Given the description of an element on the screen output the (x, y) to click on. 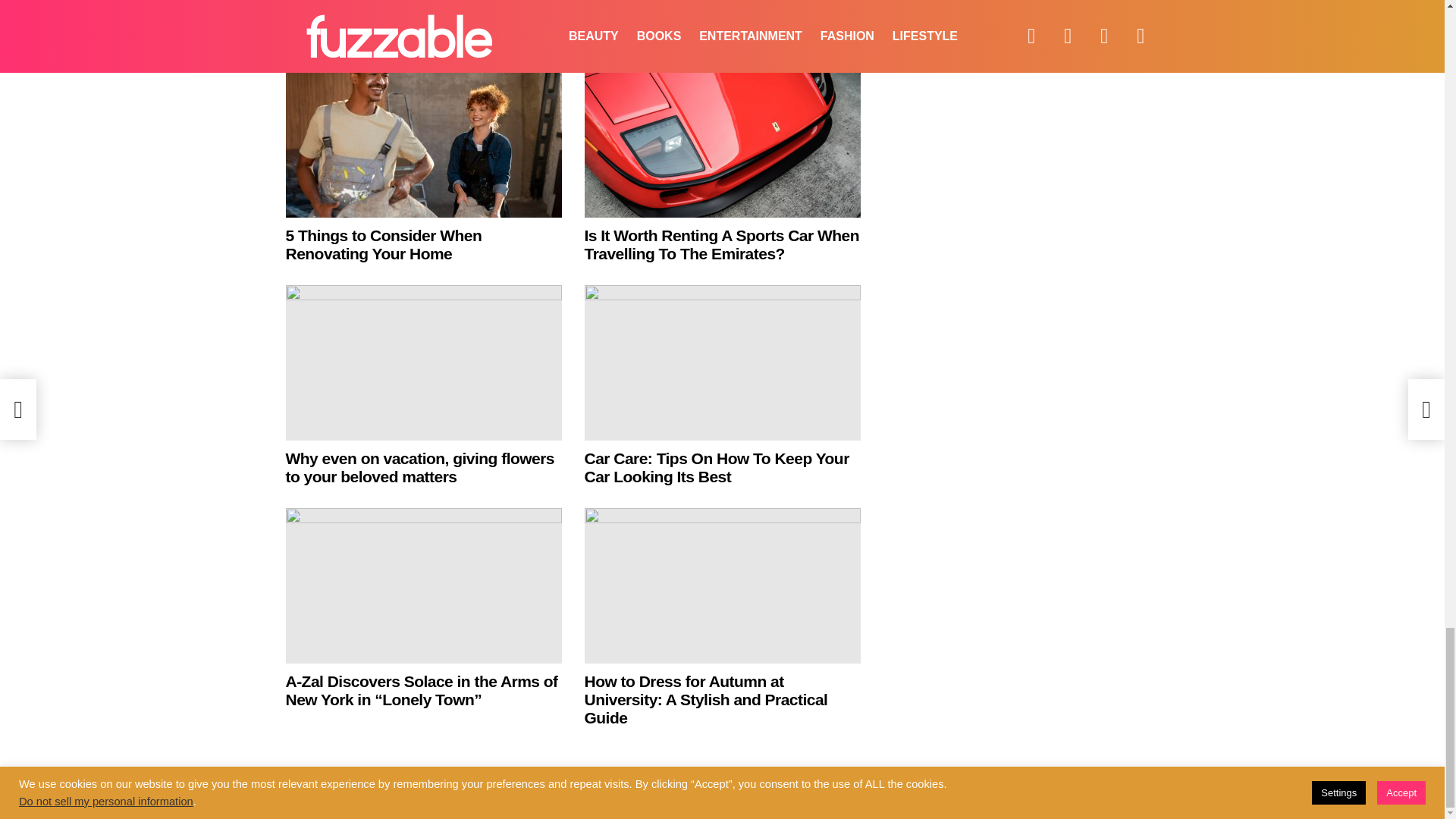
Why even on vacation, giving flowers to your beloved matters (419, 467)
Why even on vacation, giving flowers to your beloved matters (422, 362)
Car Care: Tips On How To Keep Your Car Looking Its Best (721, 362)
5 Things to Consider When Renovating Your Home (383, 244)
Car Care: Tips On How To Keep Your Car Looking Its Best (715, 467)
5 Things to Consider When Renovating Your Home (422, 139)
